Given the description of an element on the screen output the (x, y) to click on. 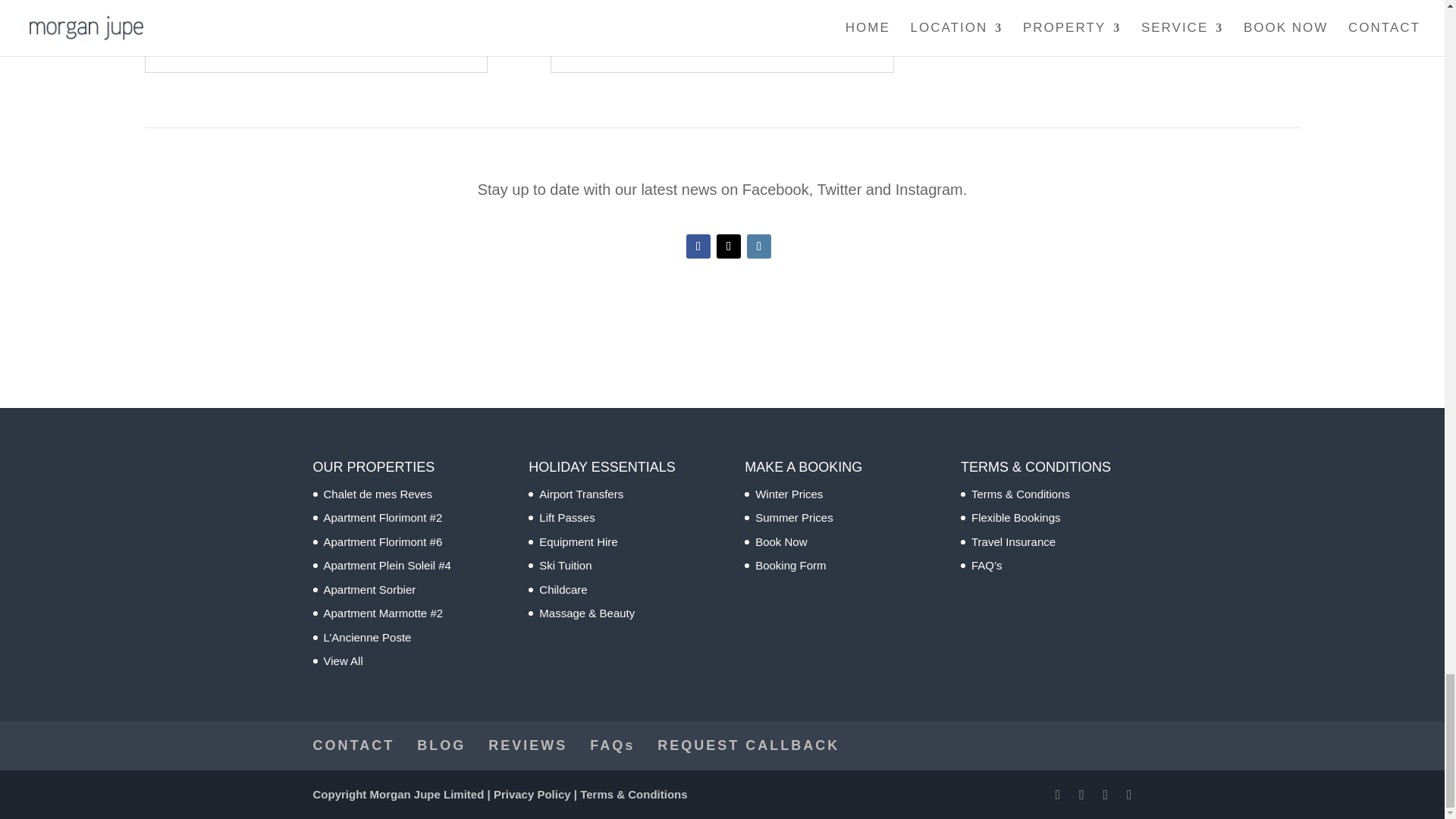
Follow on Facebook (697, 246)
Follow on Instagram (758, 246)
Follow on Twitter (728, 246)
